Given the description of an element on the screen output the (x, y) to click on. 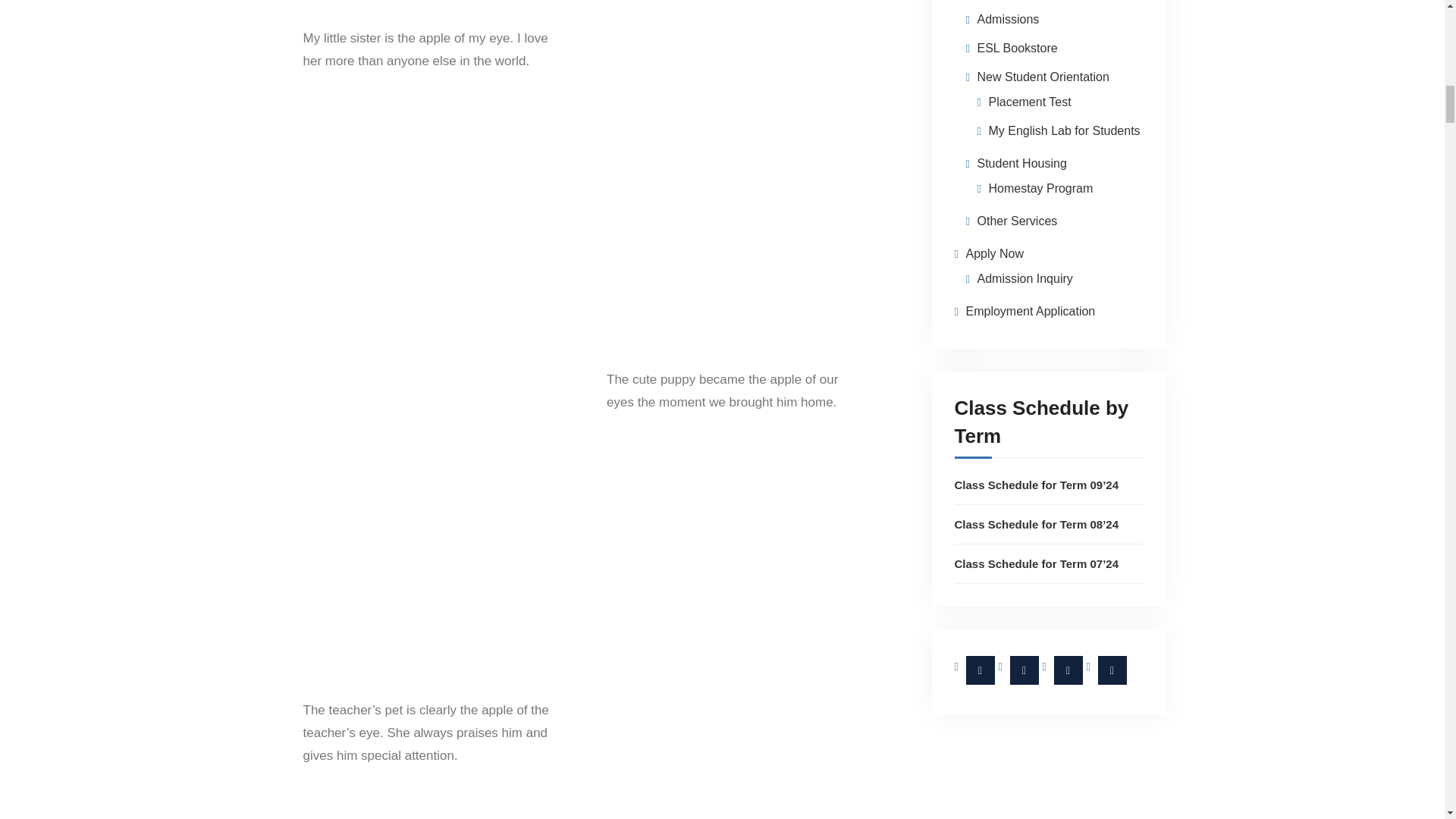
Facebook (980, 670)
YouTube (1111, 670)
Instagram (1024, 670)
LinkedIn (1068, 670)
